Given the description of an element on the screen output the (x, y) to click on. 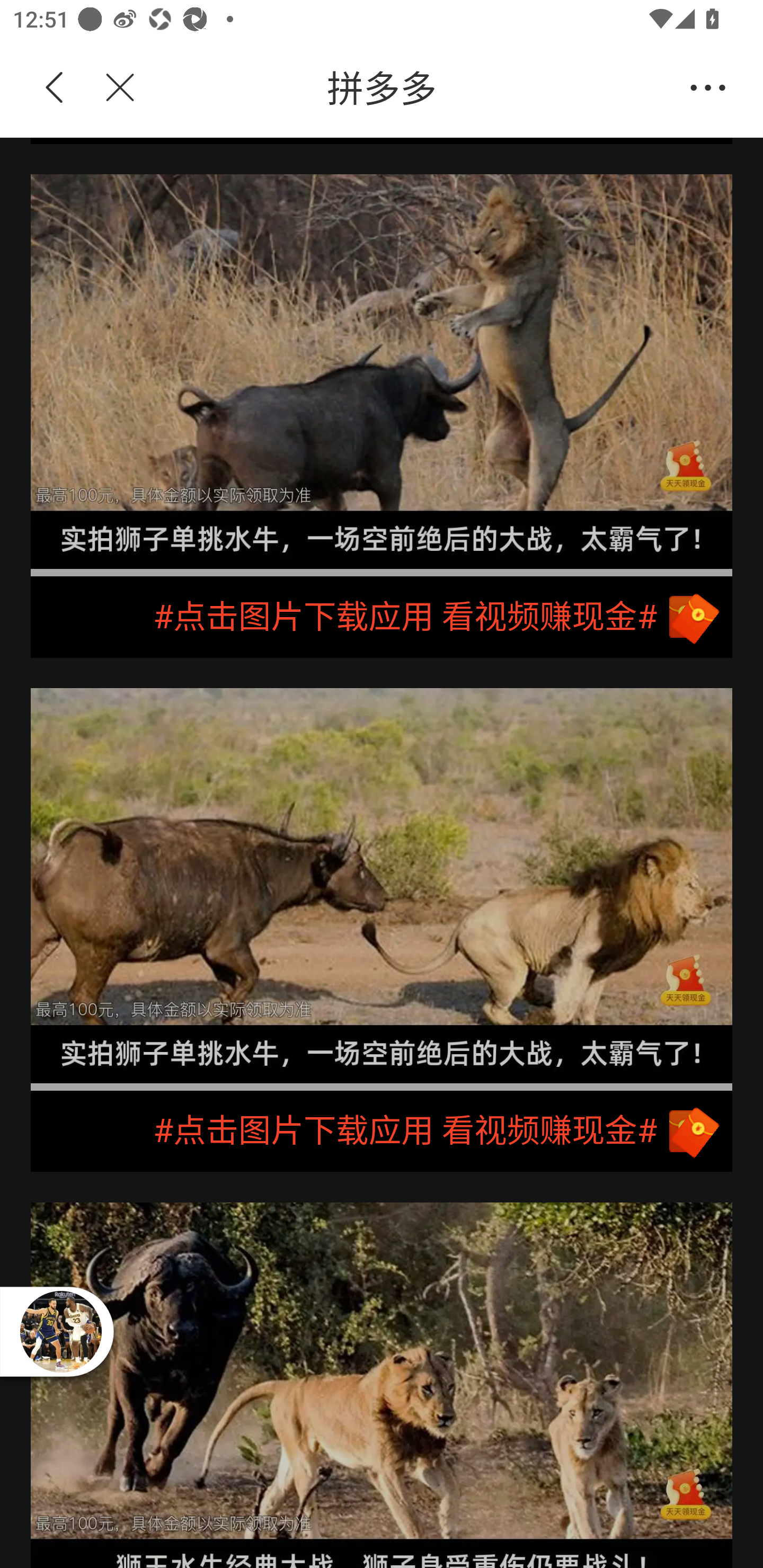
 (109, 87)
拼多多 (411, 87)
 返回 (54, 87)
 更多 (707, 87)
#点击图片下载应用 看视频赚现金# (381, 617)
#点击图片下载应用 看视频赚现金# (381, 1132)
播放器 (60, 1331)
